Given the description of an element on the screen output the (x, y) to click on. 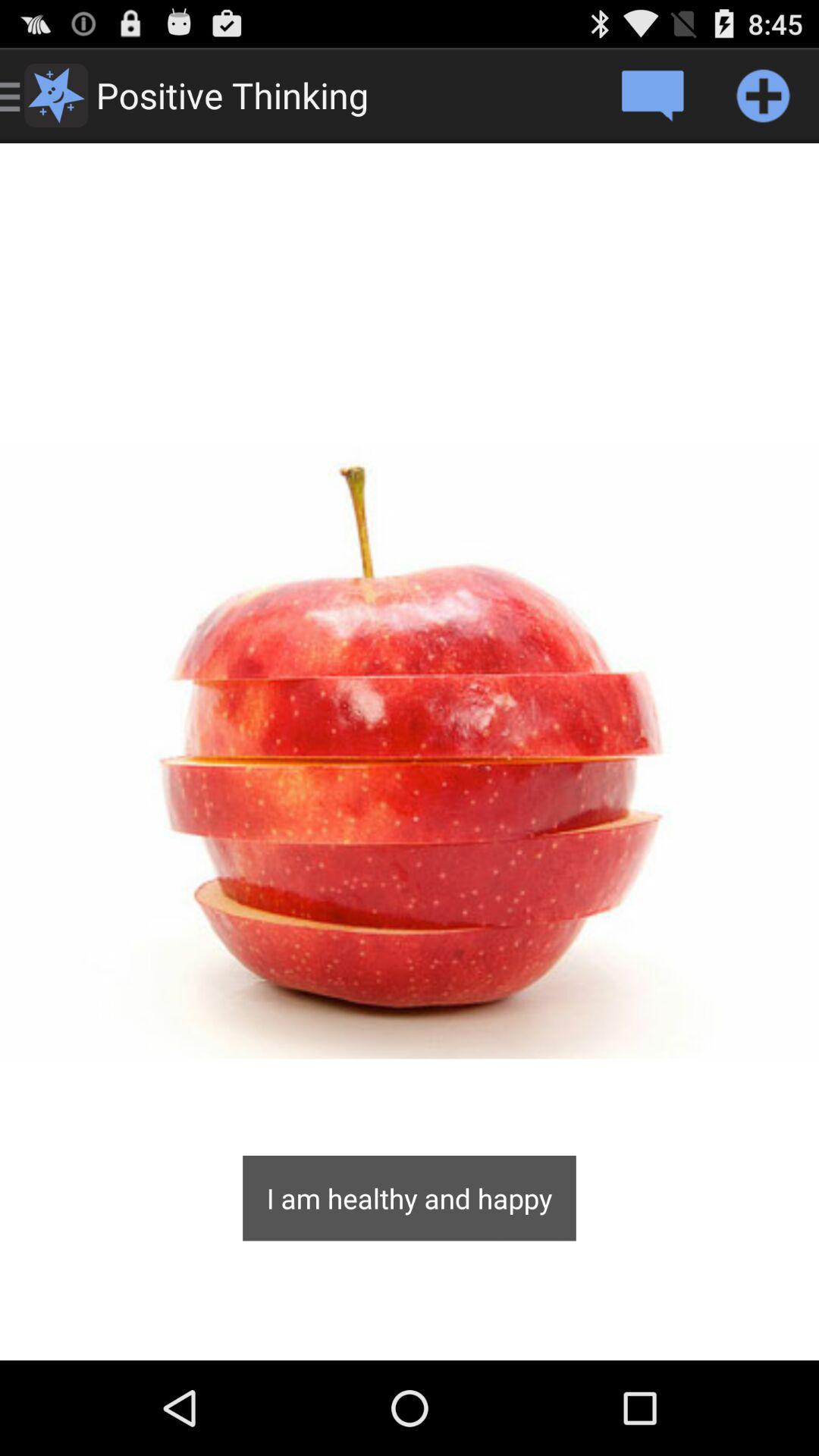
comment (651, 95)
